Given the description of an element on the screen output the (x, y) to click on. 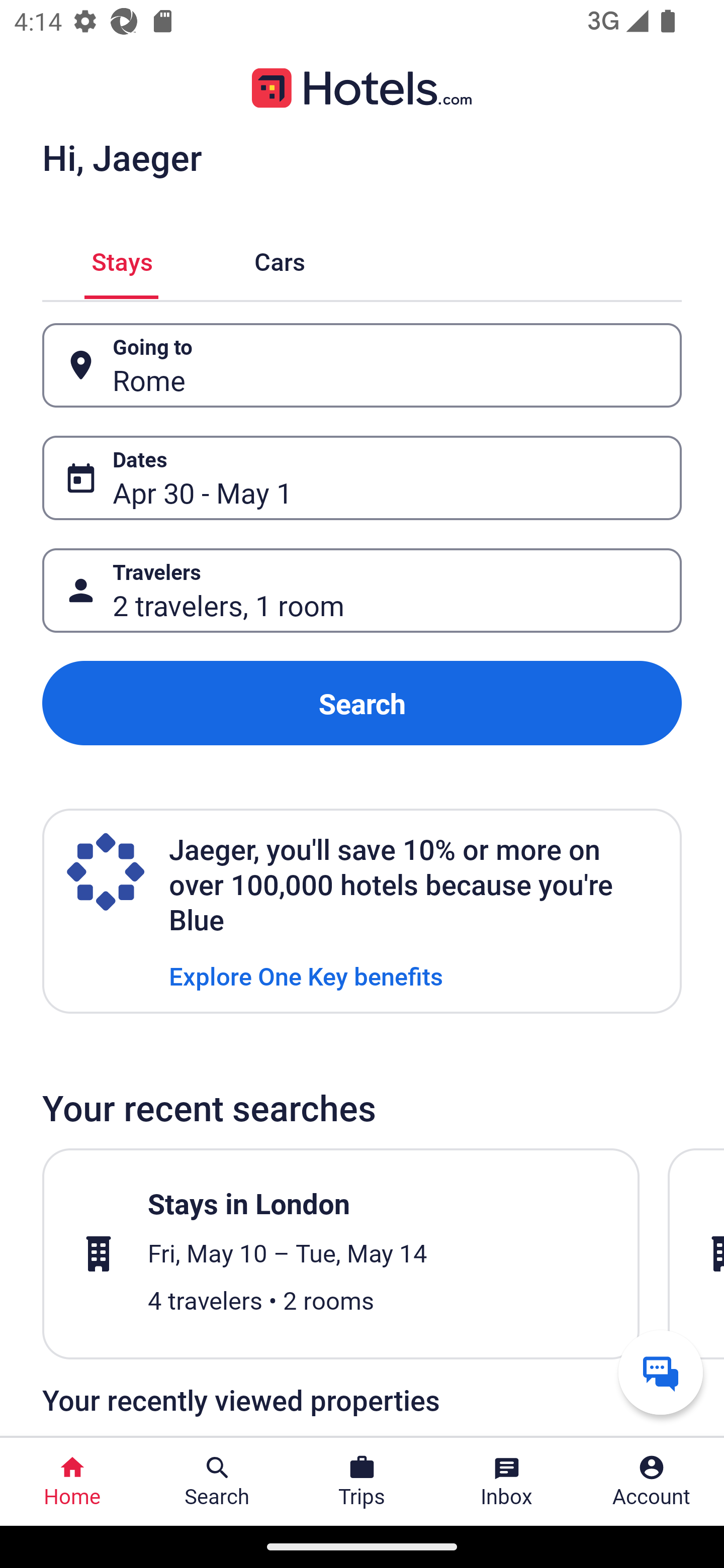
Hi, Jaeger (121, 156)
Cars (279, 259)
Going to Button Rome (361, 365)
Dates Button Apr 30 - May 1 (361, 477)
Travelers Button 2 travelers, 1 room (361, 590)
Search (361, 702)
Get help from a virtual agent (660, 1371)
Search Search Button (216, 1481)
Trips Trips Button (361, 1481)
Inbox Inbox Button (506, 1481)
Account Profile. Button (651, 1481)
